Given the description of an element on the screen output the (x, y) to click on. 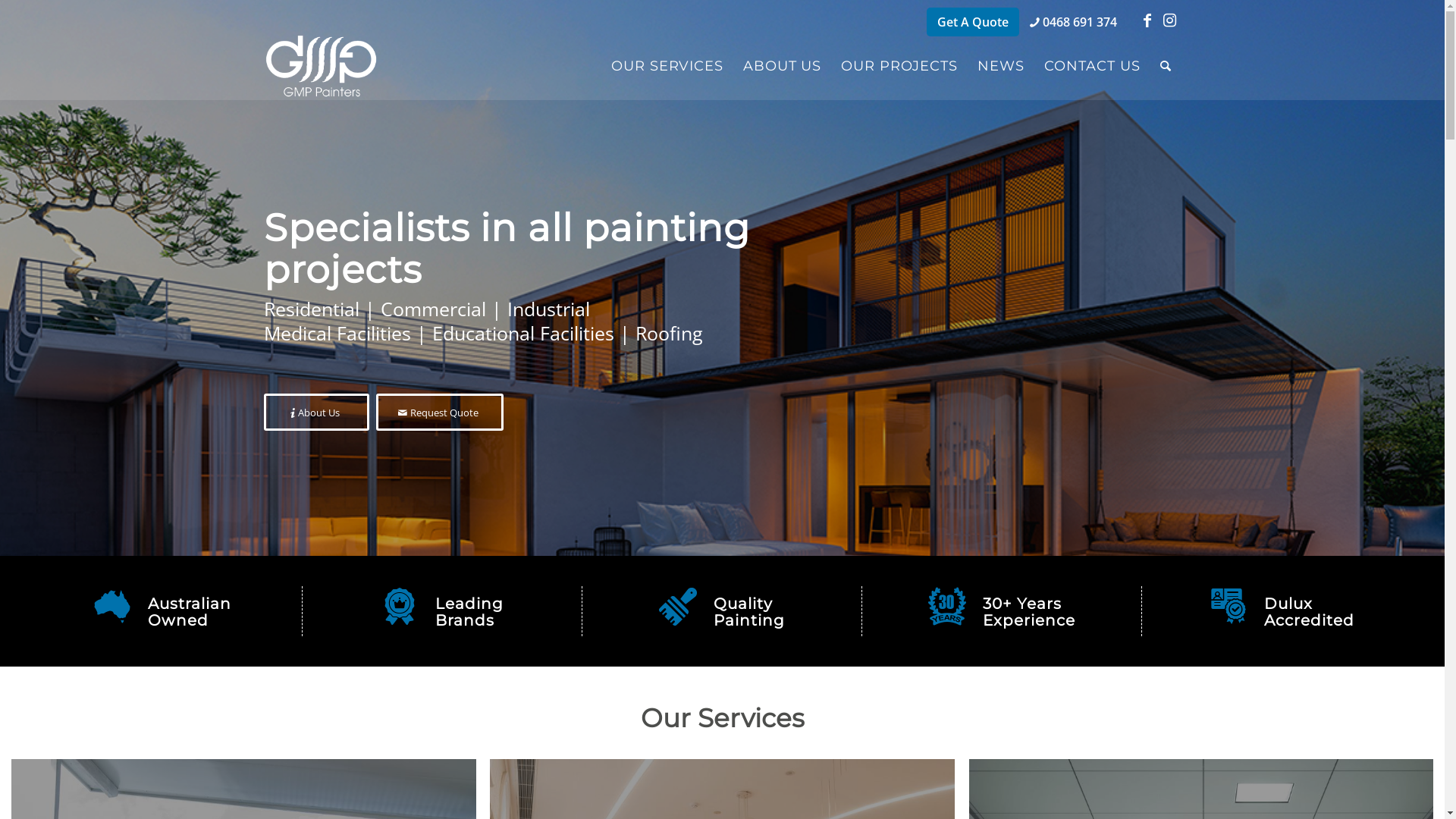
Facebook Element type: hover (1146, 20)
OUR PROJECTS Element type: text (899, 65)
ABOUT US Element type: text (782, 65)
CONTACT US Element type: text (1092, 65)
About Us Element type: text (316, 411)
Get A Quote Element type: text (972, 21)
0468 691 374 Element type: text (1073, 21)
OUR SERVICES Element type: text (667, 65)
Request Quote Element type: text (439, 411)
Logo-transparent-white Element type: hover (321, 65)
Instagram Element type: hover (1169, 20)
NEWS Element type: text (1000, 65)
